Given the description of an element on the screen output the (x, y) to click on. 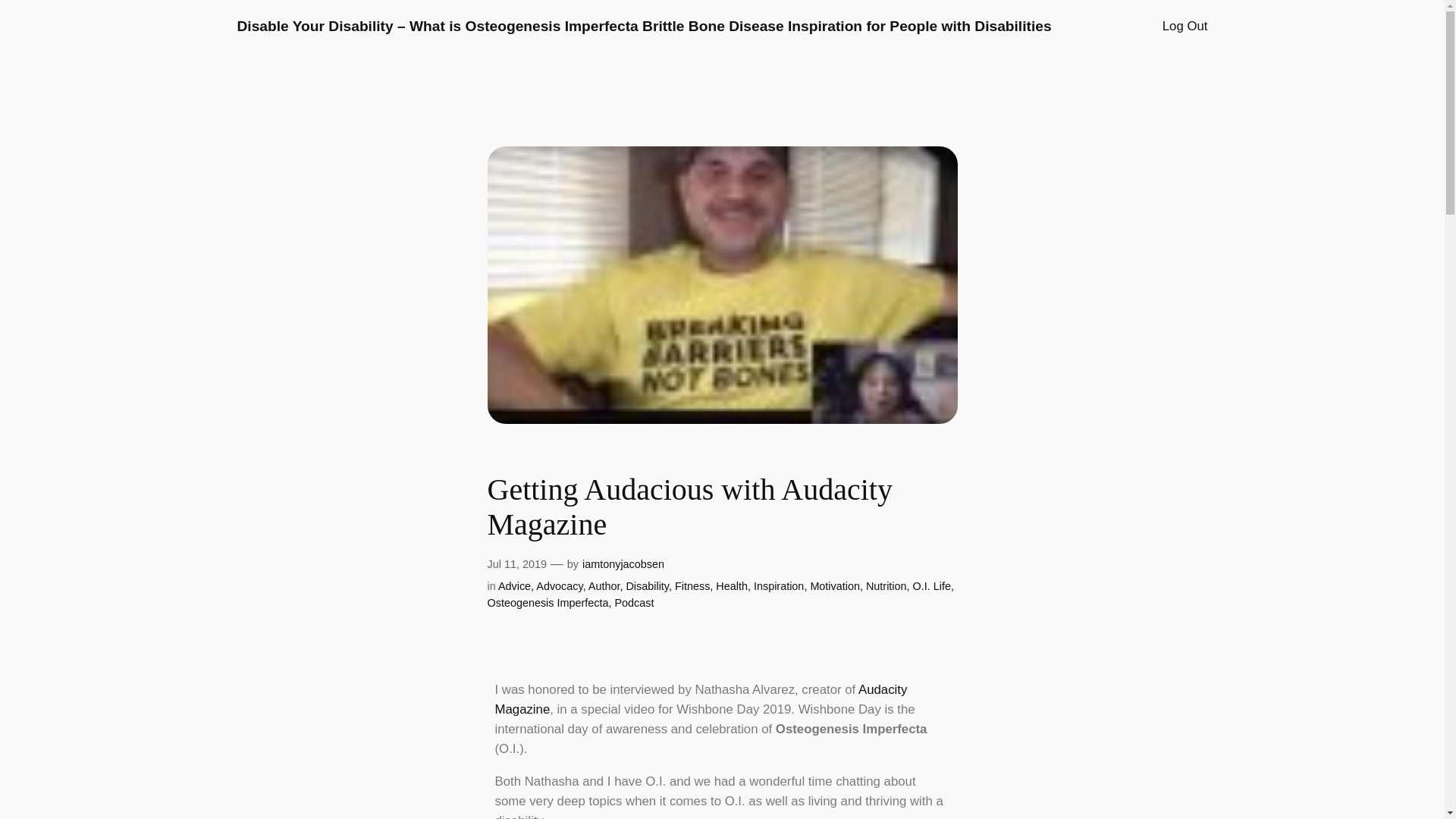
Inspiration (778, 585)
Log Out (1184, 26)
Nutrition (886, 585)
Motivation (834, 585)
Audacity Magazine (701, 699)
iamtonyjacobsen (622, 563)
O.I. Life (931, 585)
Health (732, 585)
Advocacy (558, 585)
Disability (647, 585)
Fitness (692, 585)
Osteogenesis Imperfecta (547, 603)
Podcast (633, 603)
Author (604, 585)
Jul 11, 2019 (516, 563)
